Given the description of an element on the screen output the (x, y) to click on. 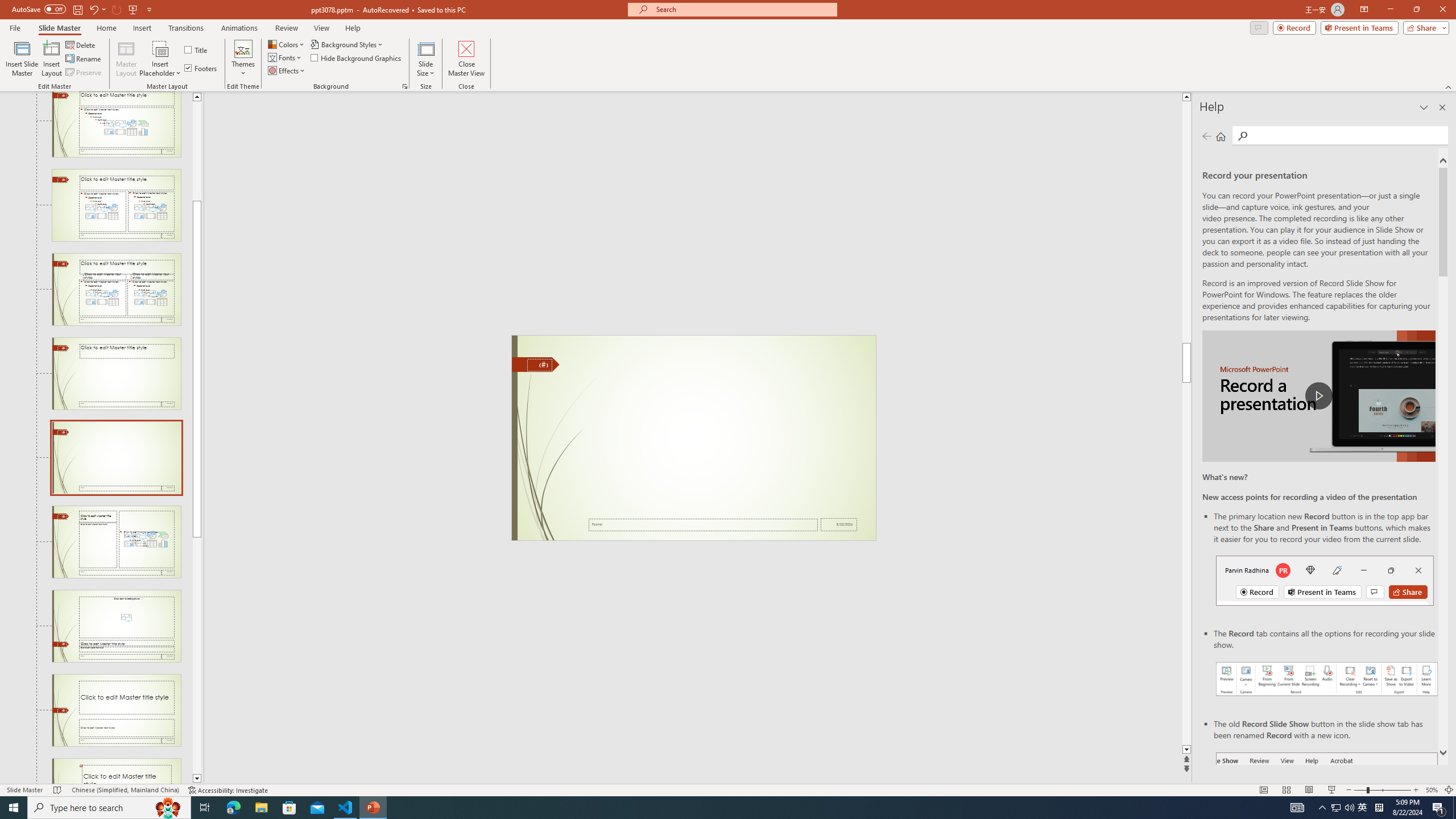
Slide Comparison Layout: used by no slides (116, 289)
Slide Quote with Caption Layout: used by no slides (116, 770)
Master Layout... (126, 58)
Slide Picture with Caption Layout: used by no slides (116, 625)
Date (839, 524)
Slide Blank Layout: used by no slides (116, 457)
